Given the description of an element on the screen output the (x, y) to click on. 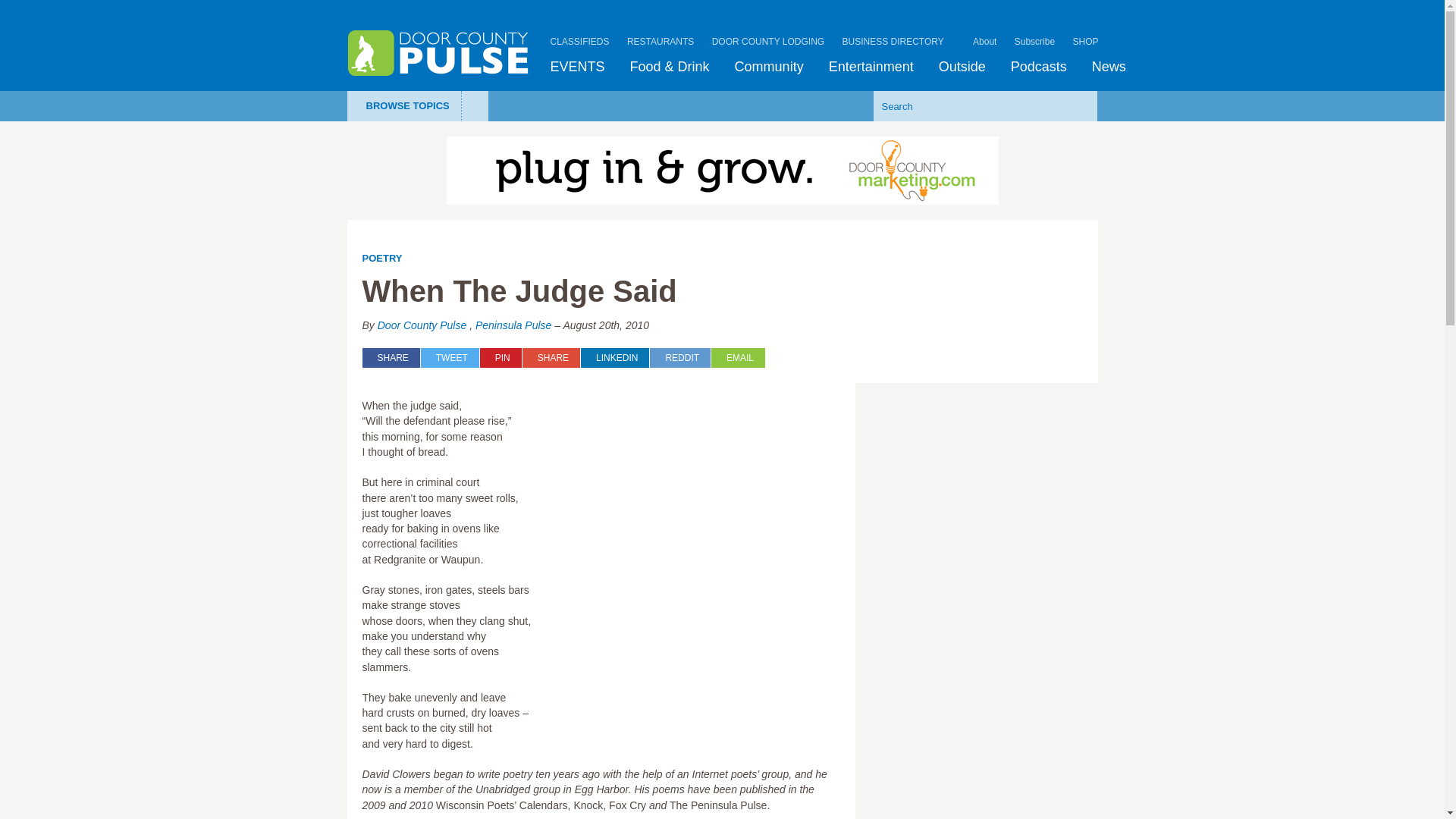
Search for: (962, 105)
Community (768, 66)
Entertainment (871, 66)
Posts by Door County Pulse (422, 325)
Outside (961, 66)
EVENTS (577, 66)
Door County Pulse (437, 53)
